Given the description of an element on the screen output the (x, y) to click on. 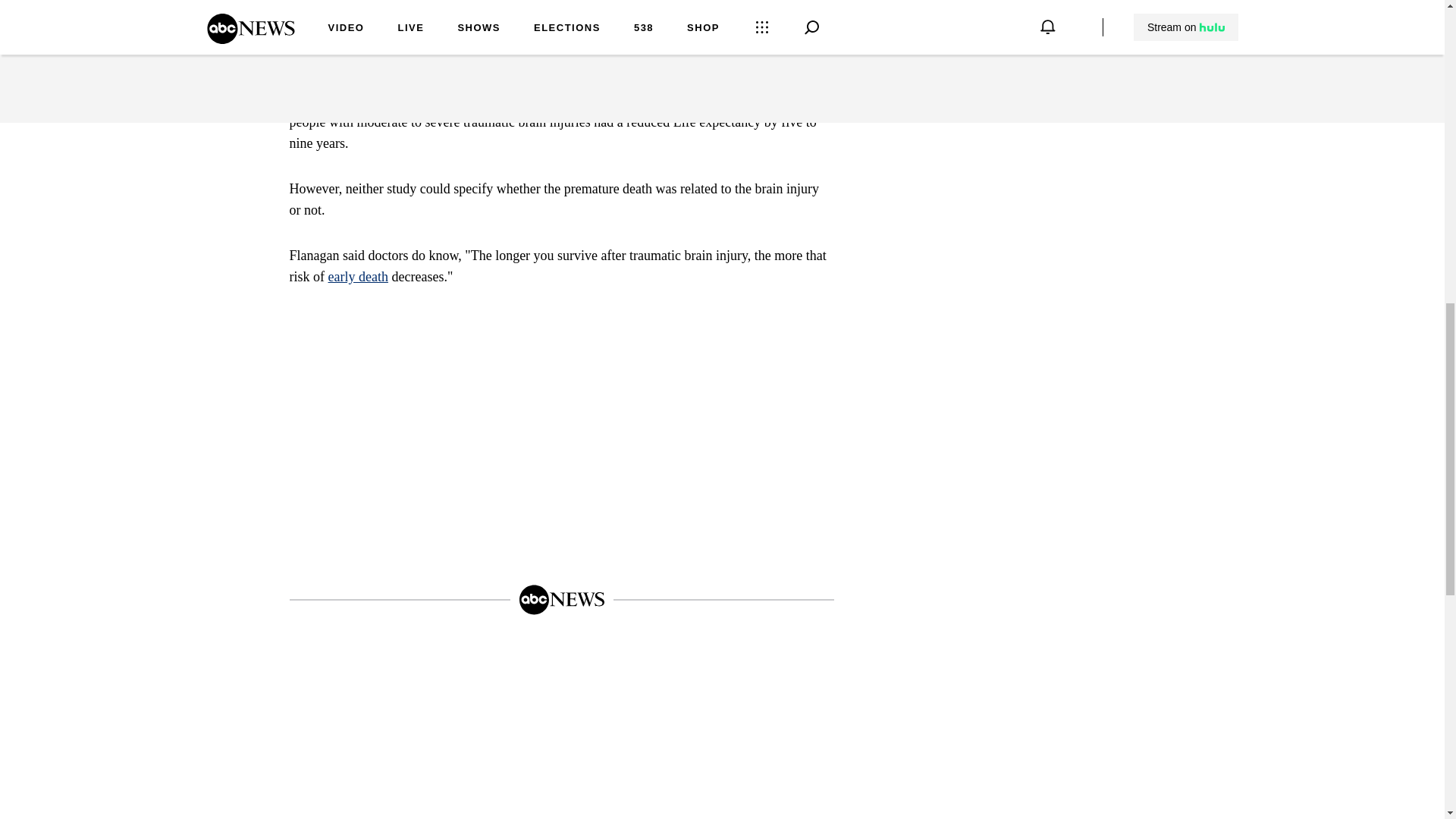
early death (357, 276)
